Given the description of an element on the screen output the (x, y) to click on. 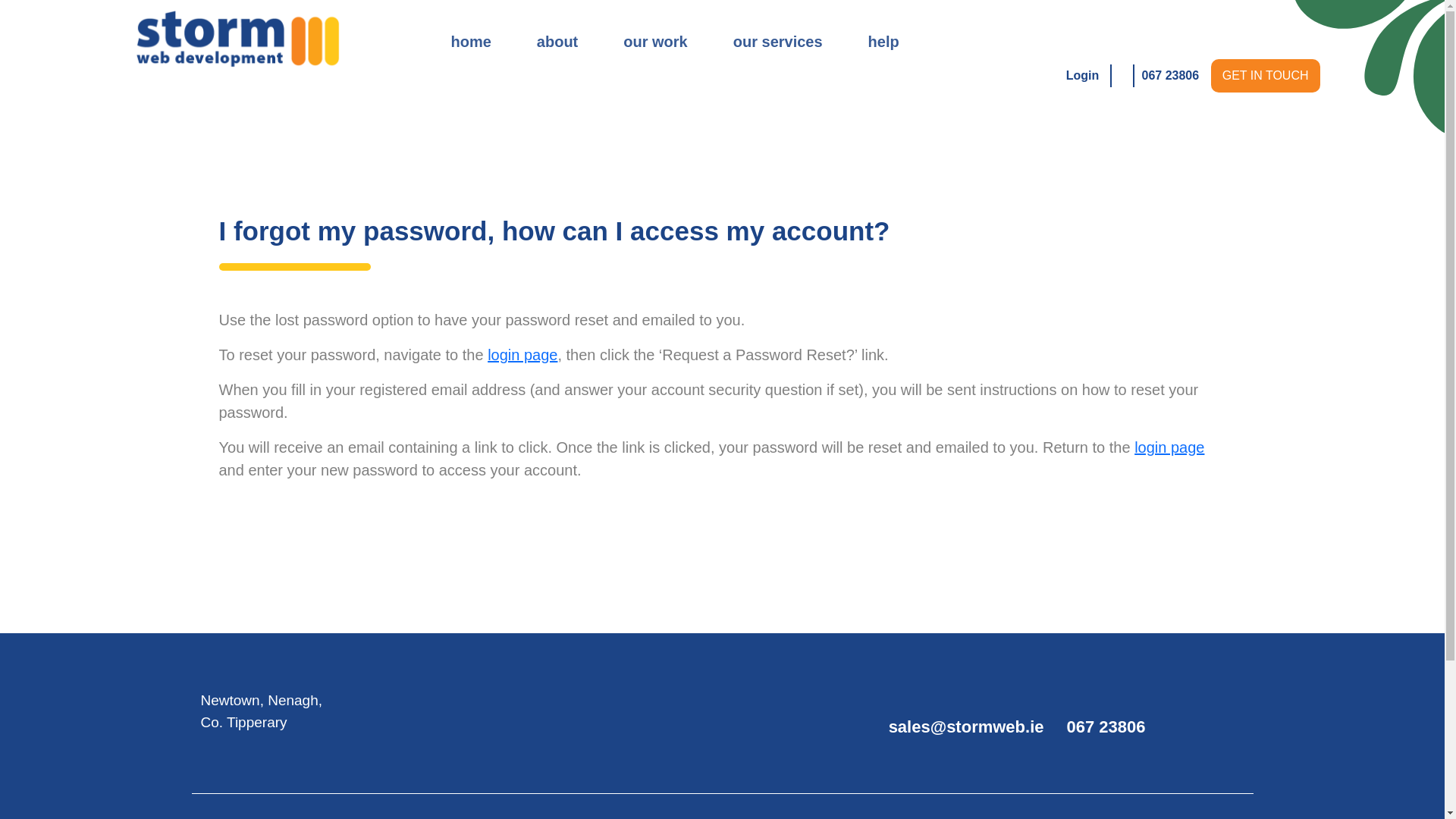
Login (1088, 60)
login page (1169, 446)
home (469, 41)
login page (522, 354)
help (883, 41)
067 23806 (1170, 74)
067 23806 (1104, 726)
our services (777, 41)
GET IN TOUCH (1265, 75)
about (557, 41)
